Given the description of an element on the screen output the (x, y) to click on. 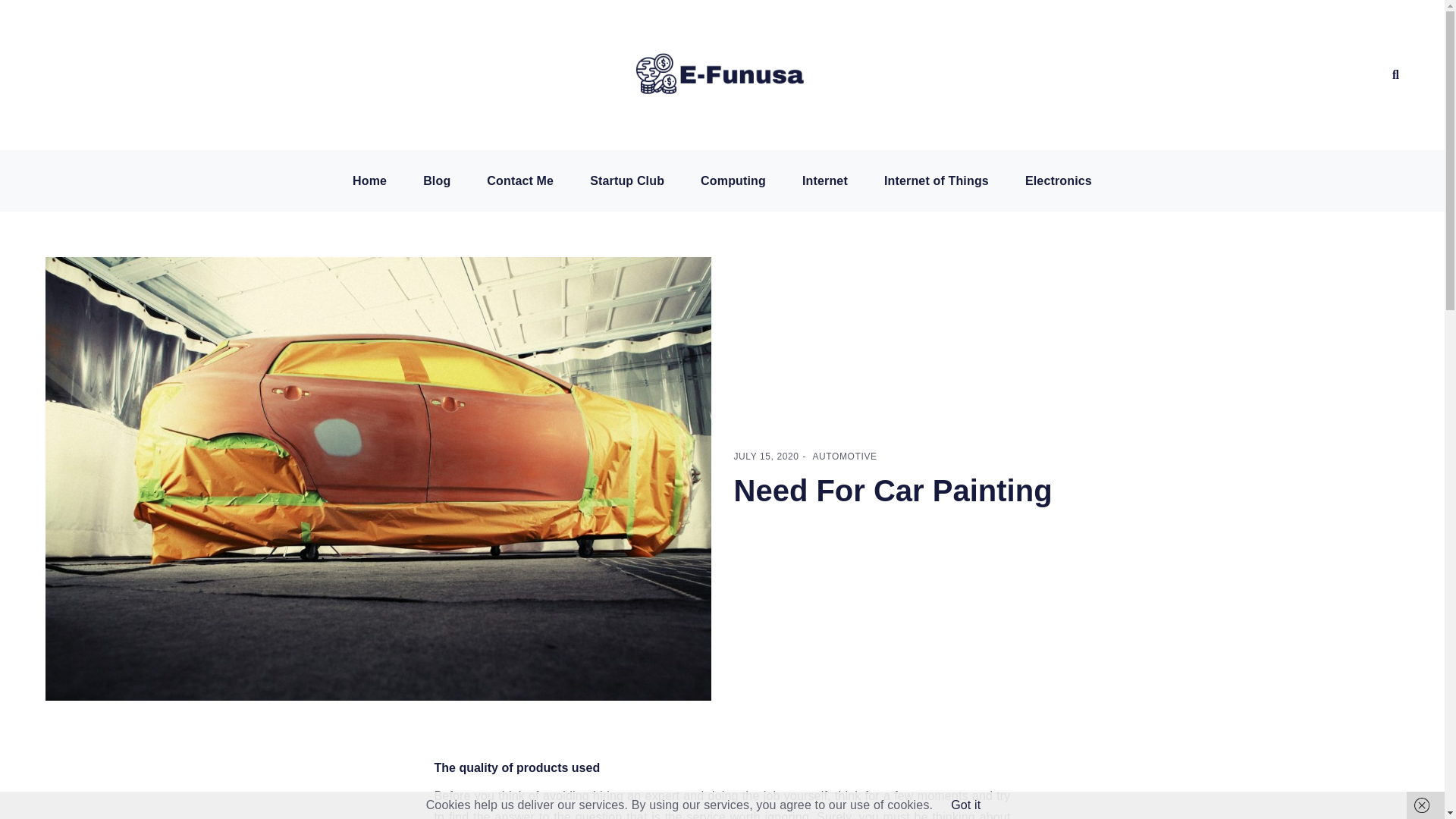
Electronics (1058, 181)
Computing (732, 181)
Startup Club (626, 181)
Internet (824, 181)
Internet of Things (935, 181)
Contact Me (519, 181)
Got it (964, 804)
Electronics (1058, 181)
Computing (732, 181)
Contact Me (519, 181)
Startup Club (626, 181)
Internet (824, 181)
AUTOMOTIVE (844, 456)
Home (369, 181)
Need For Car Painting (892, 490)
